Given the description of an element on the screen output the (x, y) to click on. 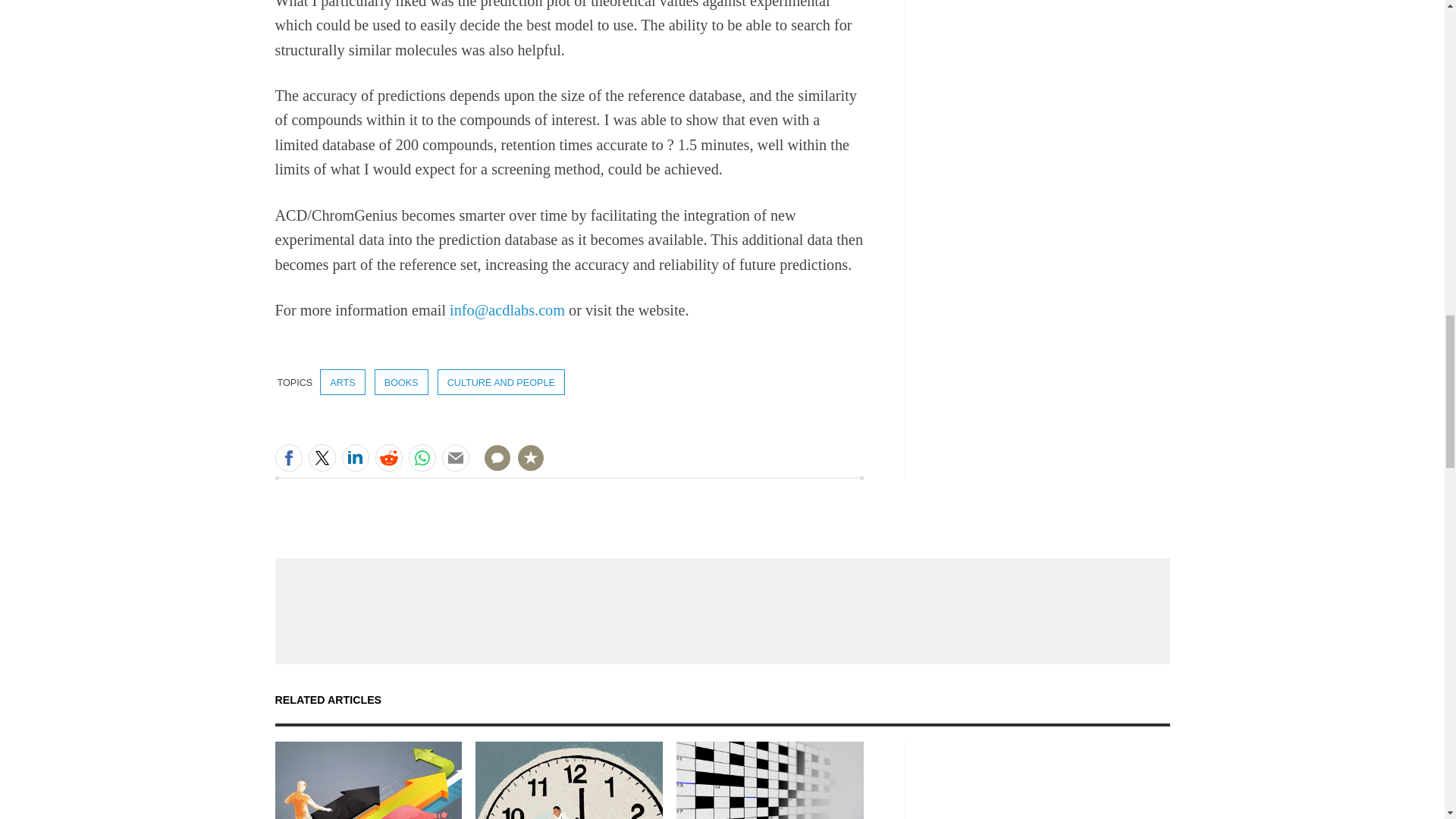
NO COMMENTS (492, 467)
Share this on Reddit (387, 457)
Share this by email (454, 457)
Share this on WhatsApp (421, 457)
Share this on LinkedIn (354, 457)
Share this on Facebook (288, 457)
